Given the description of an element on the screen output the (x, y) to click on. 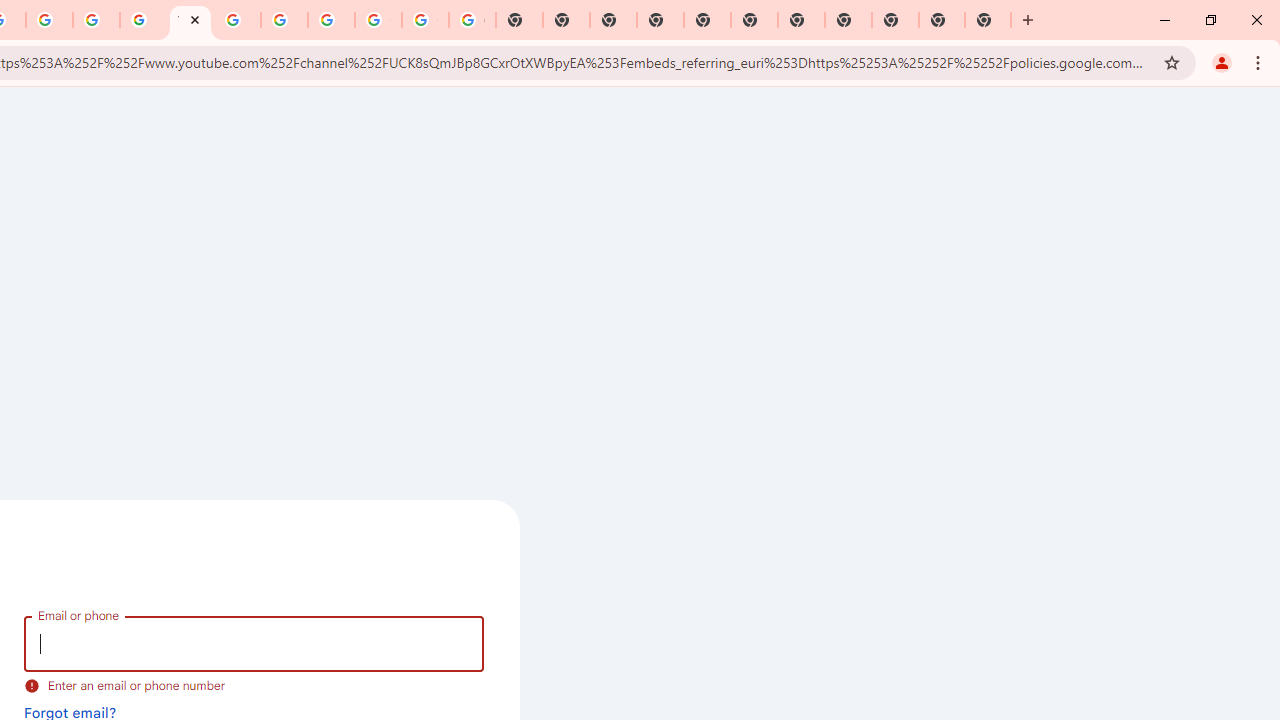
YouTube (189, 20)
Email or phone (253, 643)
New Tab (988, 20)
New Tab (895, 20)
Privacy Help Center - Policies Help (48, 20)
Browse Chrome as a guest - Computer - Google Chrome Help (237, 20)
